Given the description of an element on the screen output the (x, y) to click on. 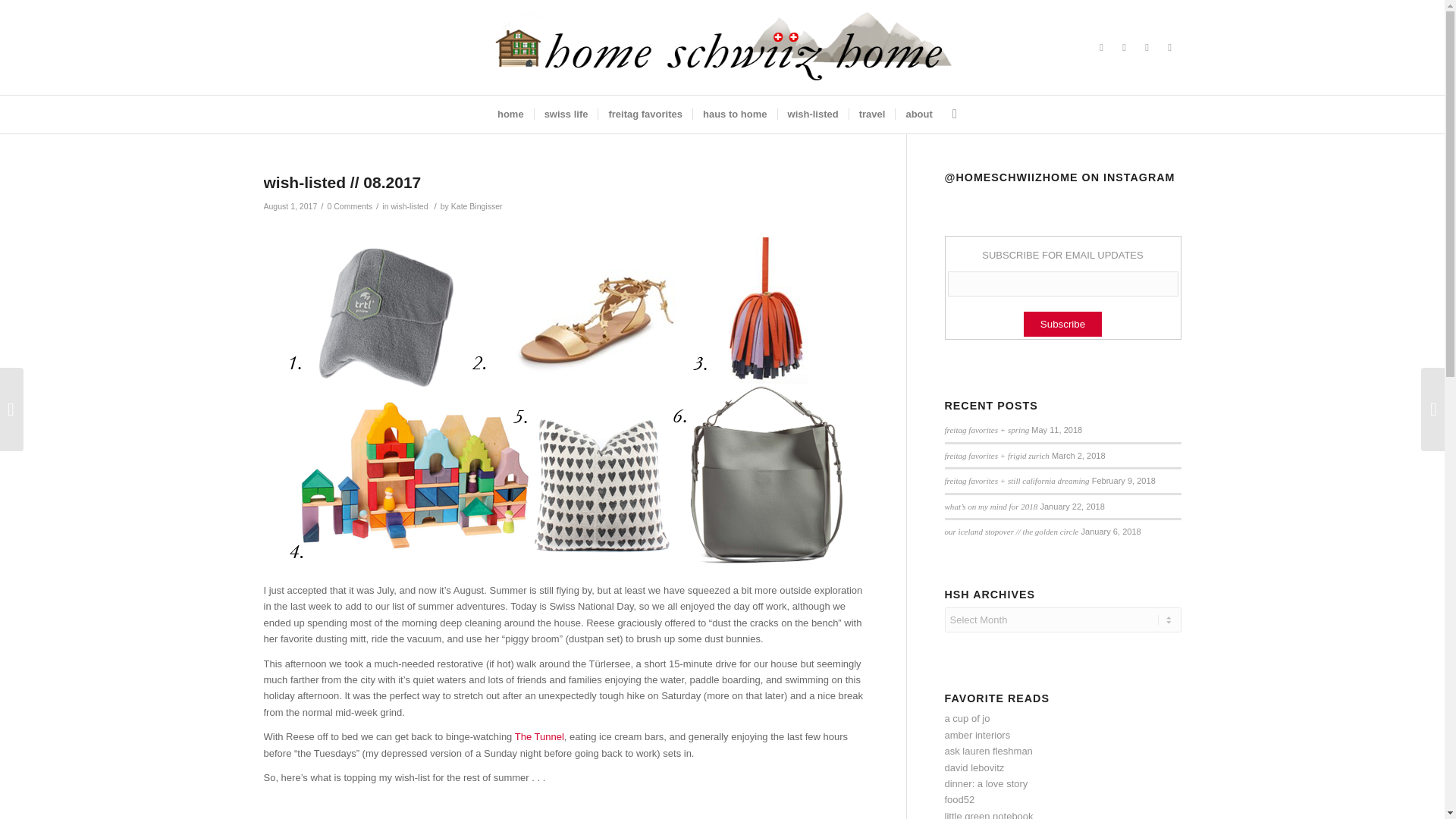
about (918, 114)
haus to home (735, 114)
swiss life (566, 114)
Mail (1124, 47)
wish-listed (812, 114)
0 Comments (349, 205)
wish-listed (409, 205)
Rss (1101, 47)
Posts by Kate Bingisser (476, 205)
freitag favorites (644, 114)
travel (871, 114)
Subscribe (1062, 324)
home (510, 114)
Instagram (1146, 47)
Pinterest (1169, 47)
